Given the description of an element on the screen output the (x, y) to click on. 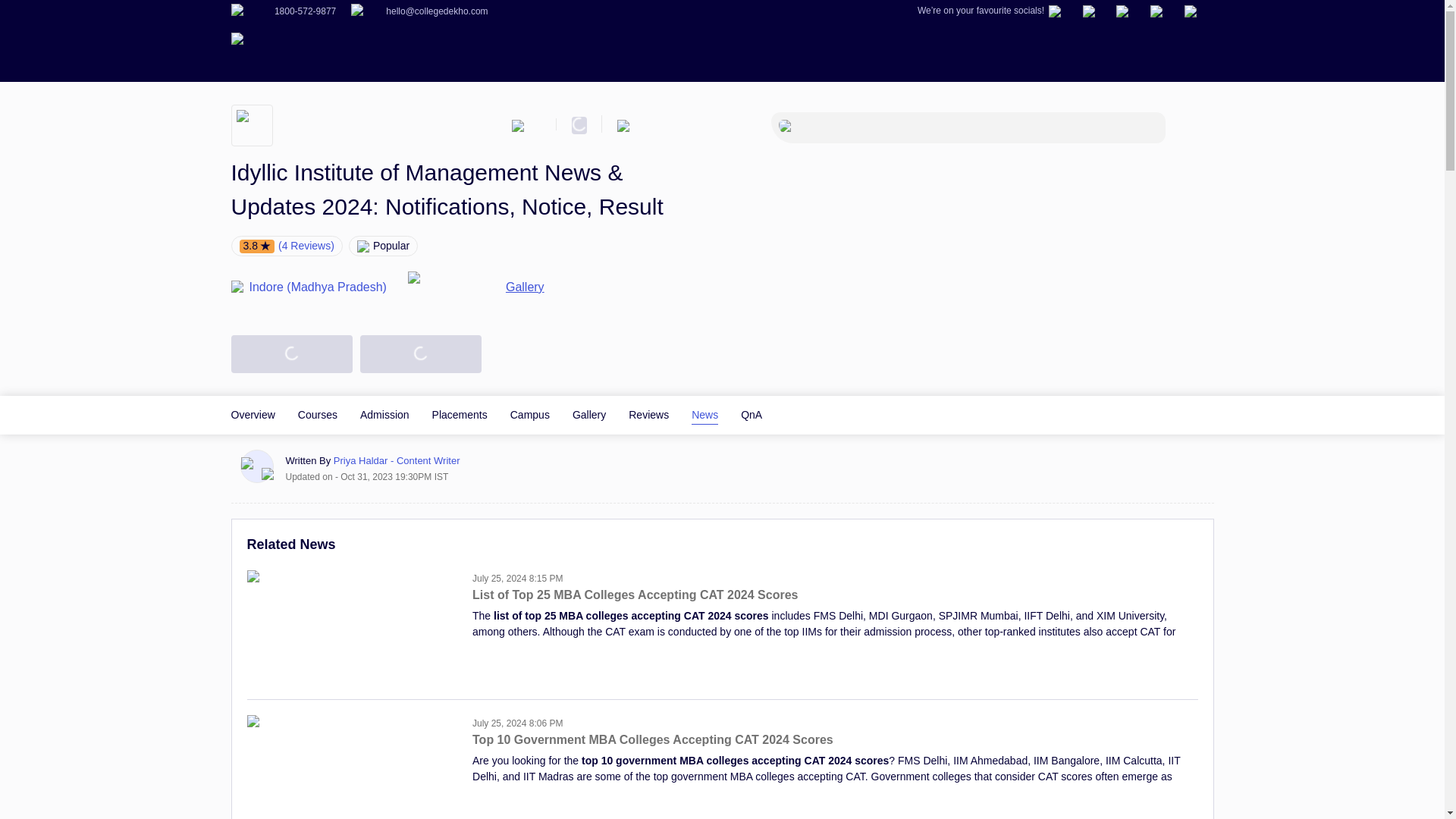
Idyllic Institute of Management Gallery (588, 414)
Gallery (588, 414)
Idyllic Institute of Management News (704, 414)
Admission (384, 414)
Top 10 Government MBA Colleges Accepting CAT 2024 Scores (833, 747)
Idyllic Institute of Management QnA (751, 414)
Campus (530, 414)
Idyllic Institute of Management Courses (317, 414)
News (704, 414)
Overview (252, 414)
Idyllic Institute of Management Reviews (648, 414)
Idyllic Institute of Management Admission (384, 414)
Courses (317, 414)
Idyllic Institute of Management Campus (530, 414)
List of Top 25 MBA Colleges Accepting CAT 2024 Scores (833, 602)
